Given the description of an element on the screen output the (x, y) to click on. 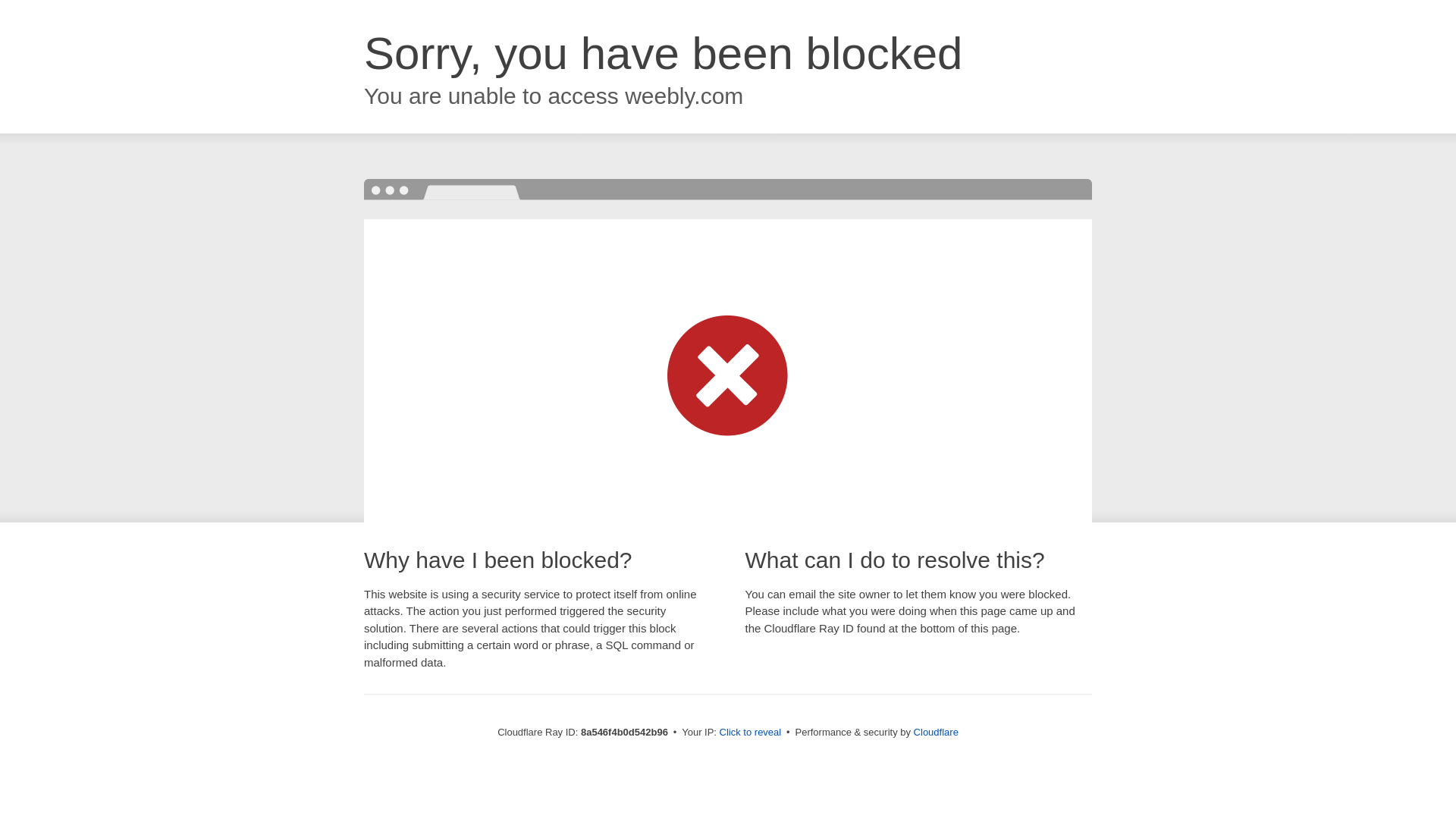
Cloudflare (936, 731)
Click to reveal (750, 732)
